Given the description of an element on the screen output the (x, y) to click on. 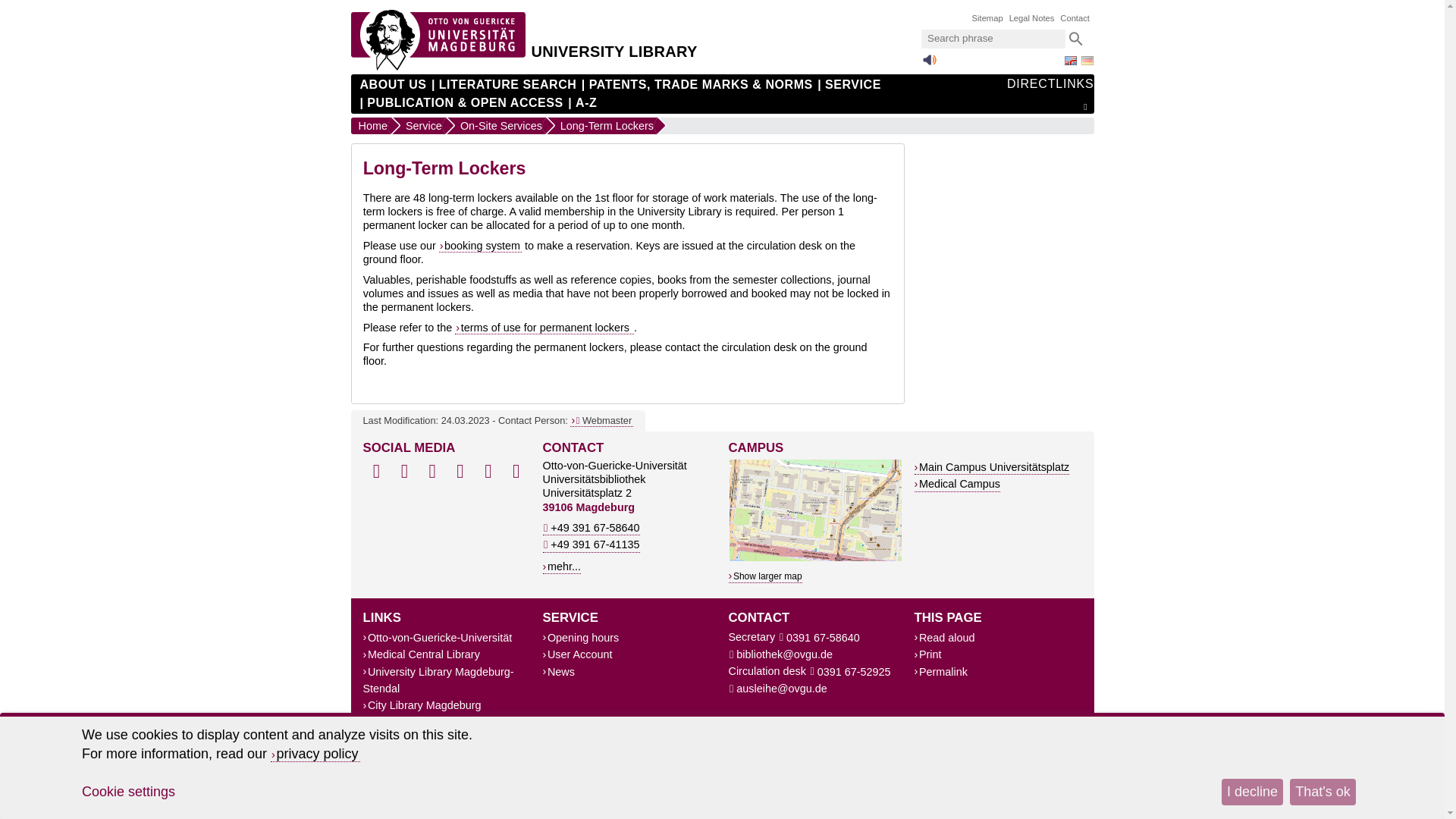
Facebook (376, 472)
Home (370, 125)
Xing (460, 472)
Long-Term Lockers (602, 125)
Service (418, 125)
Webmaster (601, 420)
Nutzungsbedingungen-DSF-Englisch.pdf (543, 327)
On-Site Services (495, 125)
Homepage of the Otto-von-Guericke-University Magdeburg (437, 66)
Homepage (613, 39)
A-Z (581, 103)
booking system (480, 245)
On-Site Services (495, 125)
Contact us (601, 420)
Long-Term Lockers (602, 125)
